Given the description of an element on the screen output the (x, y) to click on. 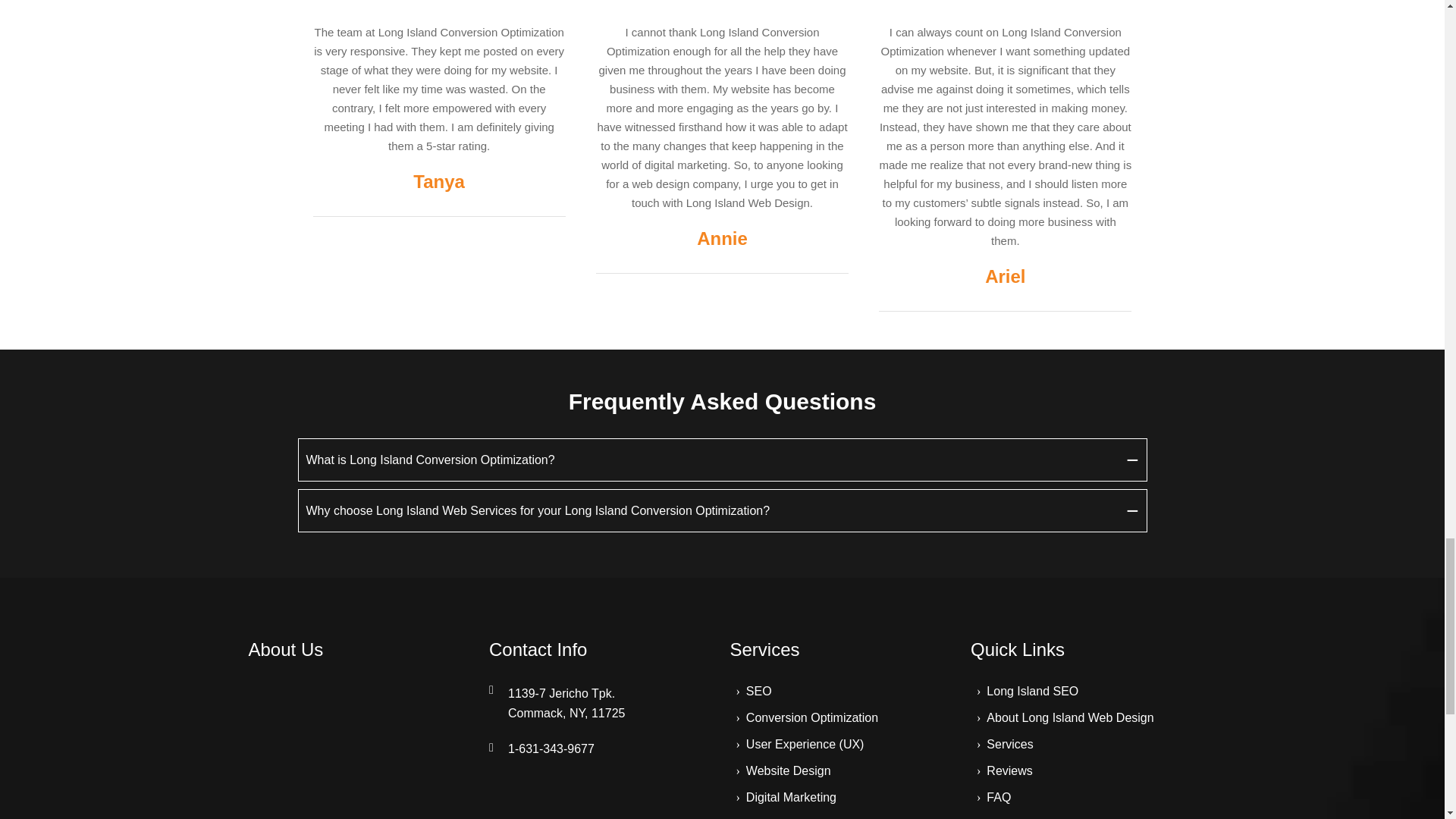
Digital Marketing (790, 797)
Services (842, 649)
Ariel (1005, 275)
Conversion Optimization (601, 702)
Digital Marketing (811, 717)
Services (790, 797)
FAQ (1009, 744)
Reviews (998, 797)
